Given the description of an element on the screen output the (x, y) to click on. 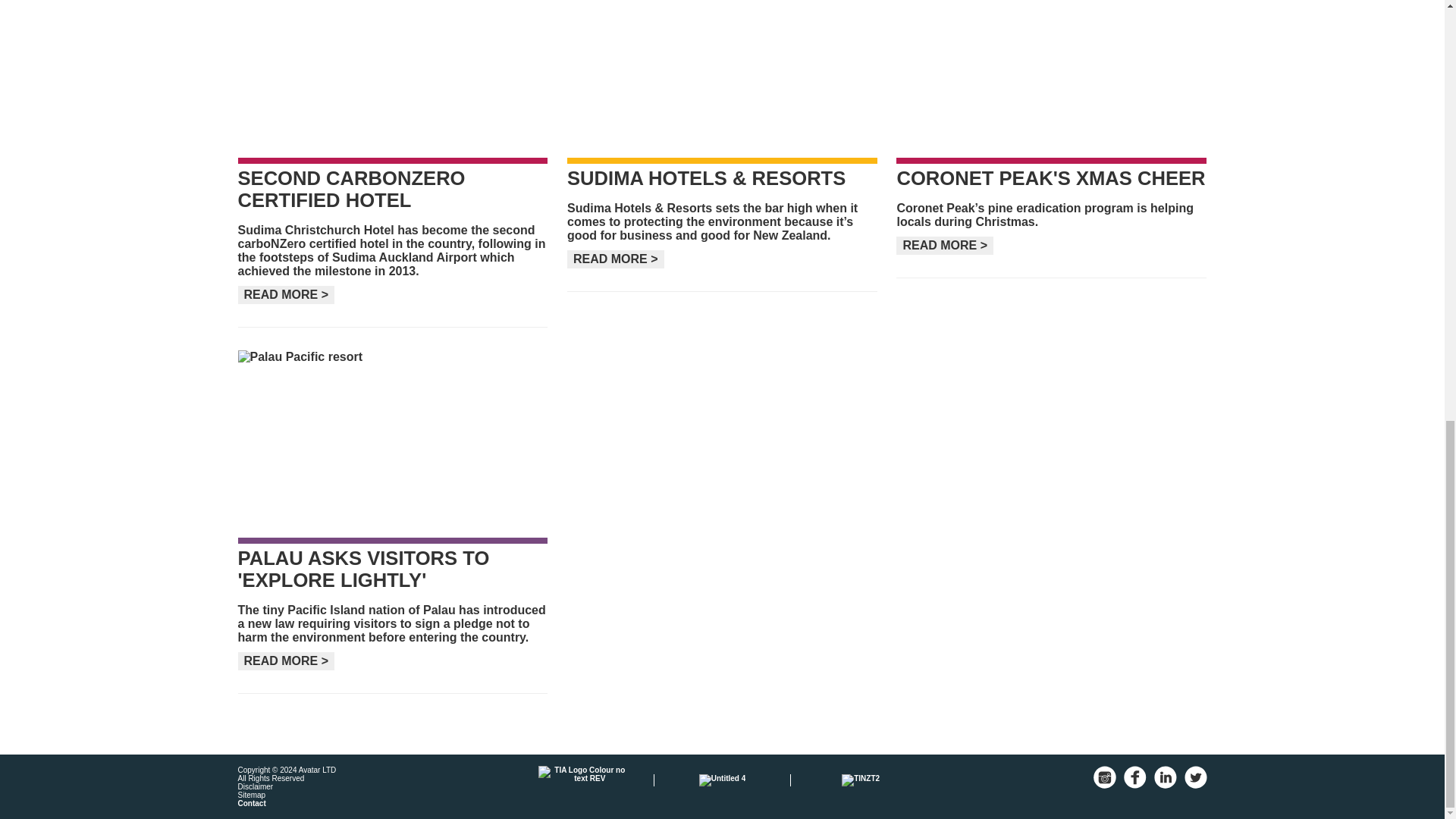
Contact (252, 803)
